Given the description of an element on the screen output the (x, y) to click on. 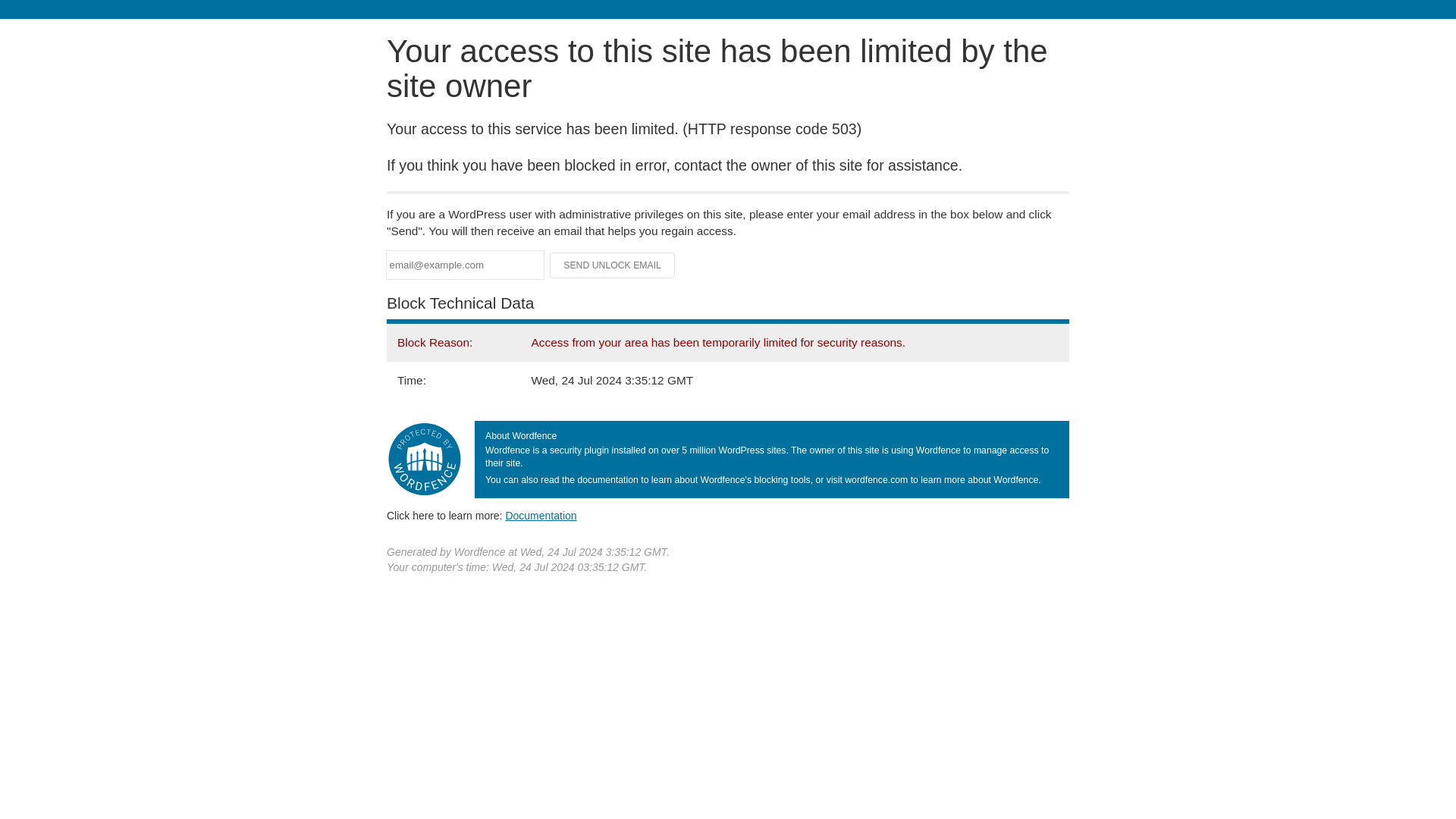
Send Unlock Email (612, 265)
Send Unlock Email (612, 265)
Documentation (540, 515)
